Given the description of an element on the screen output the (x, y) to click on. 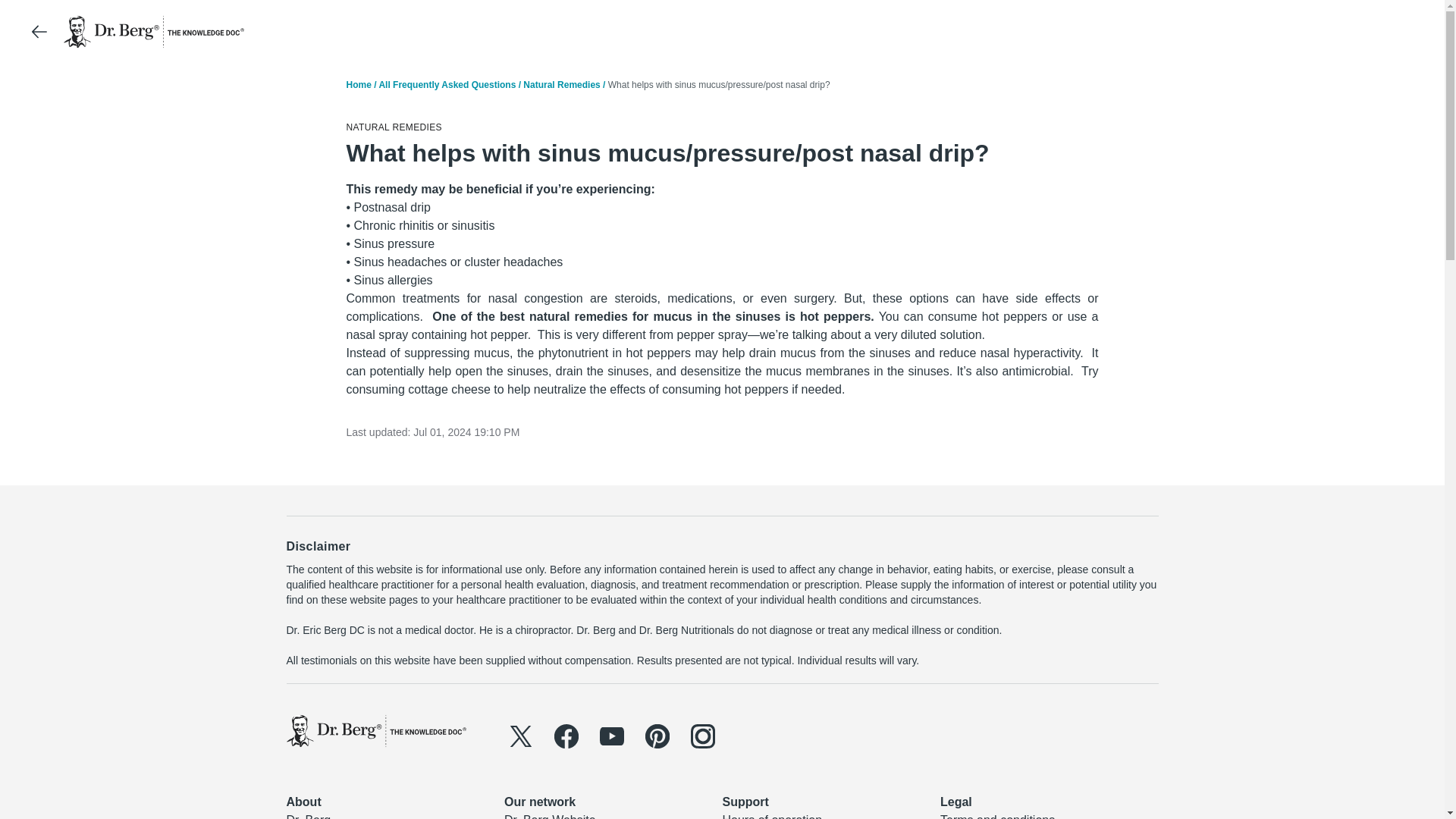
Terms and conditions (997, 816)
All Frequently Asked Questions (446, 84)
Home (358, 84)
Dr. Berg (308, 816)
Dr. Berg Website (549, 816)
